Given the description of an element on the screen output the (x, y) to click on. 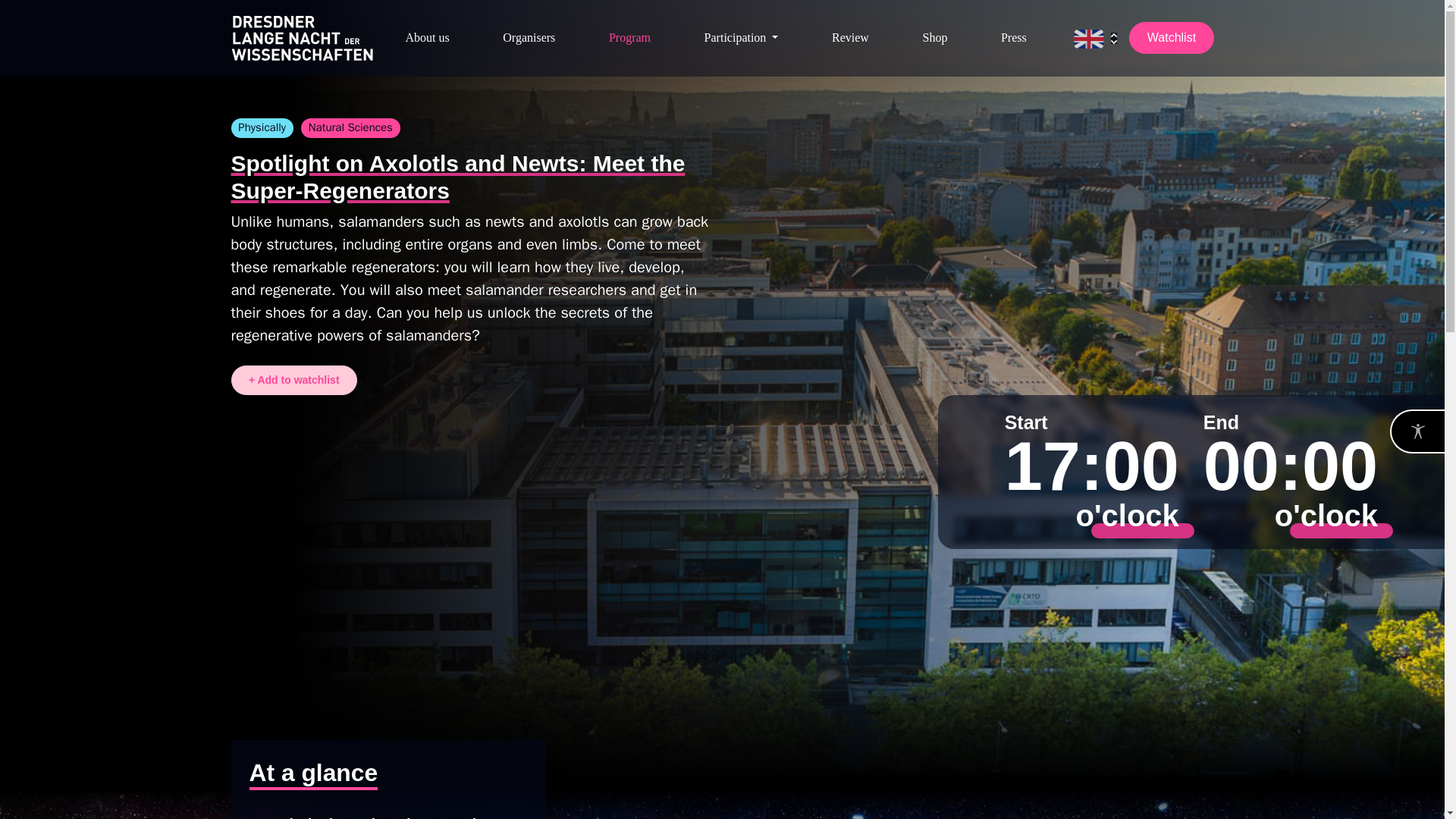
Watchlist (1170, 38)
Englisch (1095, 37)
Shop (934, 37)
Review (850, 37)
Organisers (528, 37)
Program (629, 37)
Organisers (528, 37)
Program (629, 37)
Participation (741, 37)
Shop (934, 37)
